Given the description of an element on the screen output the (x, y) to click on. 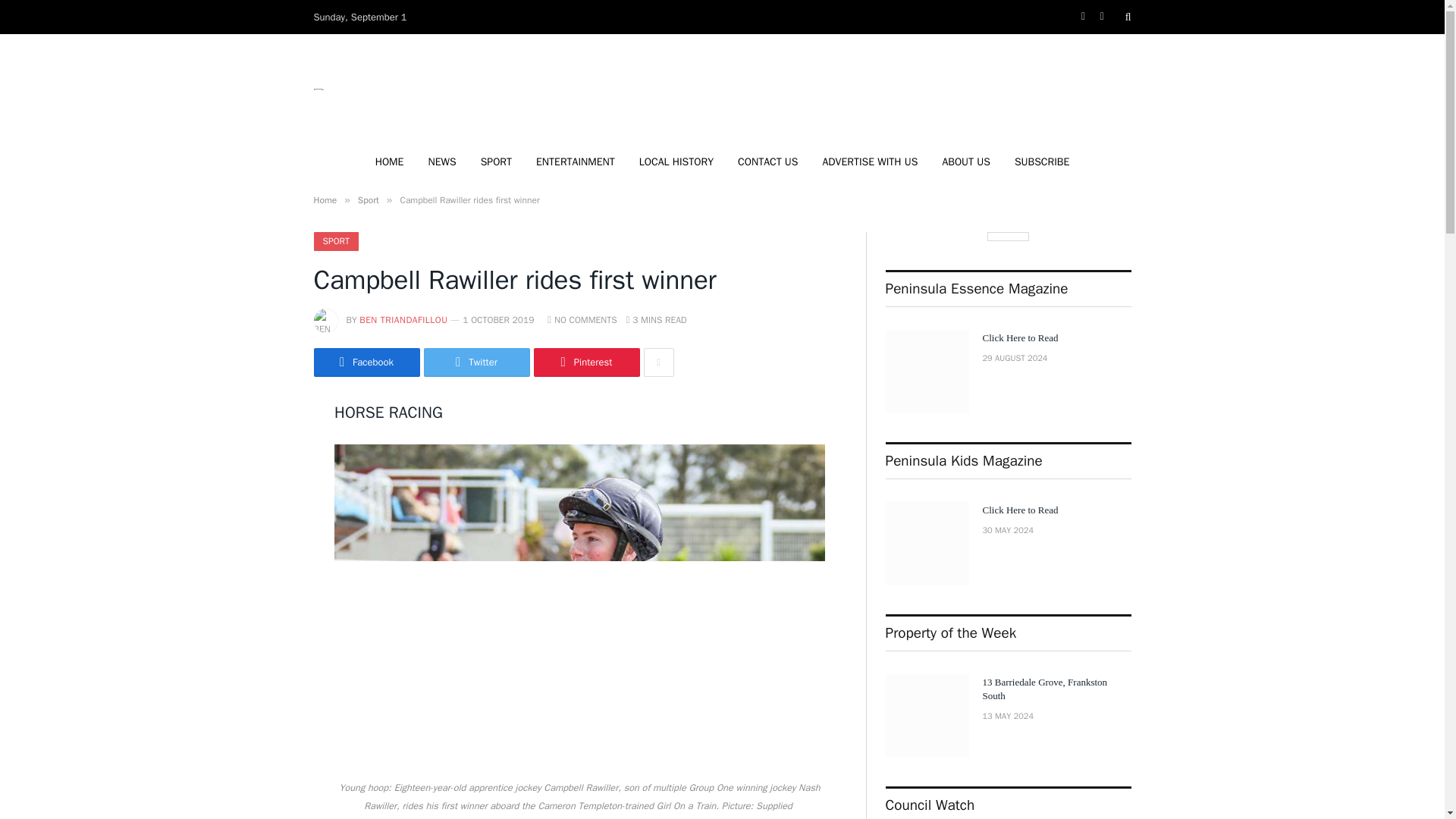
ADVERTISE WITH US (869, 161)
Show More Social Sharing (657, 362)
SUBSCRIBE (1042, 161)
Posts by Ben Triandafillou (402, 319)
SPORT (336, 240)
ENTERTAINMENT (575, 161)
NO COMMENTS (581, 319)
Sport (368, 200)
HOME (389, 161)
Share on Pinterest (587, 362)
